Given the description of an element on the screen output the (x, y) to click on. 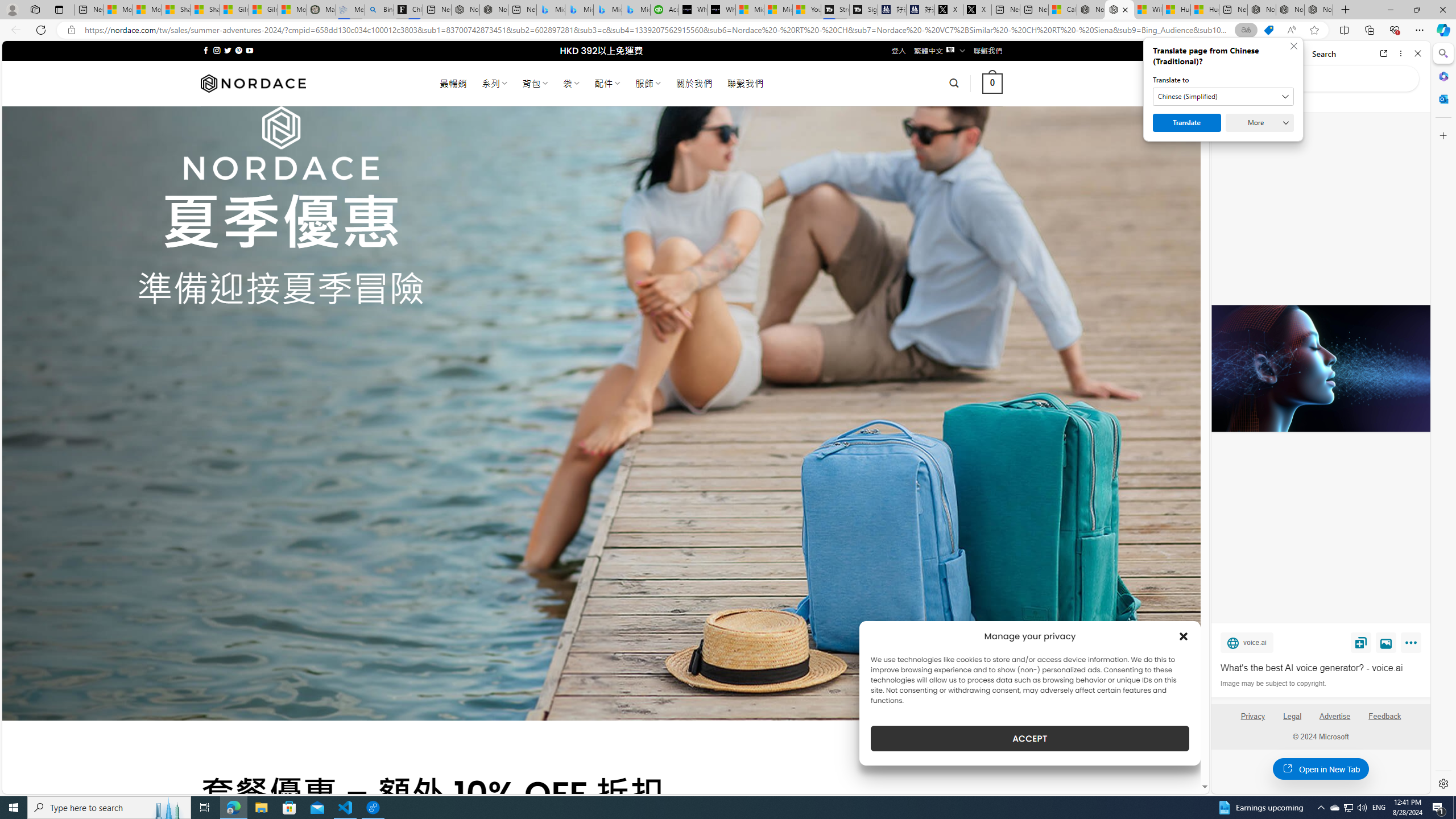
Save (1361, 642)
Follow on Instagram (216, 50)
What's the best AI voice generator? - voice.ai (1320, 667)
Outlook (1442, 98)
Manatee Mortality Statistics | FWC (320, 9)
Follow on Twitter (227, 50)
Close tab (1125, 9)
Split screen (1344, 29)
Wildlife - MSN (1147, 9)
Shanghai, China weather forecast | Microsoft Weather (205, 9)
Address and search bar (658, 29)
Nordace - Best Sellers (1262, 9)
Microsoft Bing Travel - Stays in Bangkok, Bangkok, Thailand (579, 9)
Workspaces (34, 9)
